Given the description of an element on the screen output the (x, y) to click on. 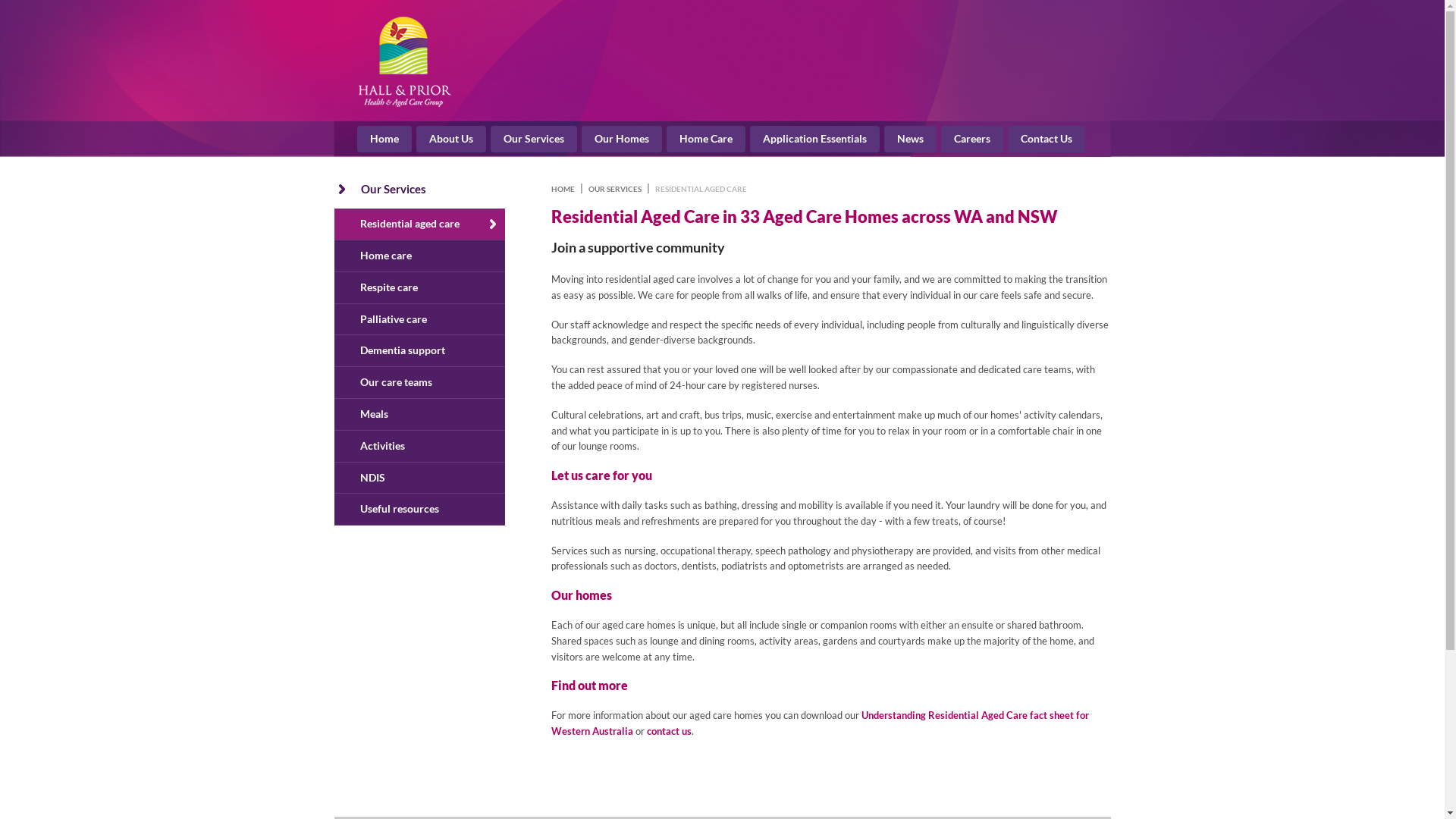
Application Essentials Element type: text (814, 138)
Residential aged care Element type: text (418, 223)
Meals Element type: text (418, 413)
Our Services Element type: text (393, 188)
Home Care Element type: text (705, 138)
Useful resources Element type: text (418, 508)
OUR SERVICES Element type: text (614, 189)
Palliative care Element type: text (418, 319)
Contact Us Element type: text (1046, 138)
Our care teams Element type: text (418, 382)
contact us Element type: text (668, 730)
NDIS Element type: text (418, 477)
About Us Element type: text (451, 138)
News Element type: text (910, 138)
Activities Element type: text (418, 445)
Careers Element type: text (972, 138)
Home Element type: text (384, 138)
Our Homes Element type: text (621, 138)
HOME Element type: text (564, 189)
Respite care Element type: text (418, 287)
Dementia support Element type: text (418, 350)
Our Services Element type: text (533, 138)
Home care Element type: text (418, 255)
